Given the description of an element on the screen output the (x, y) to click on. 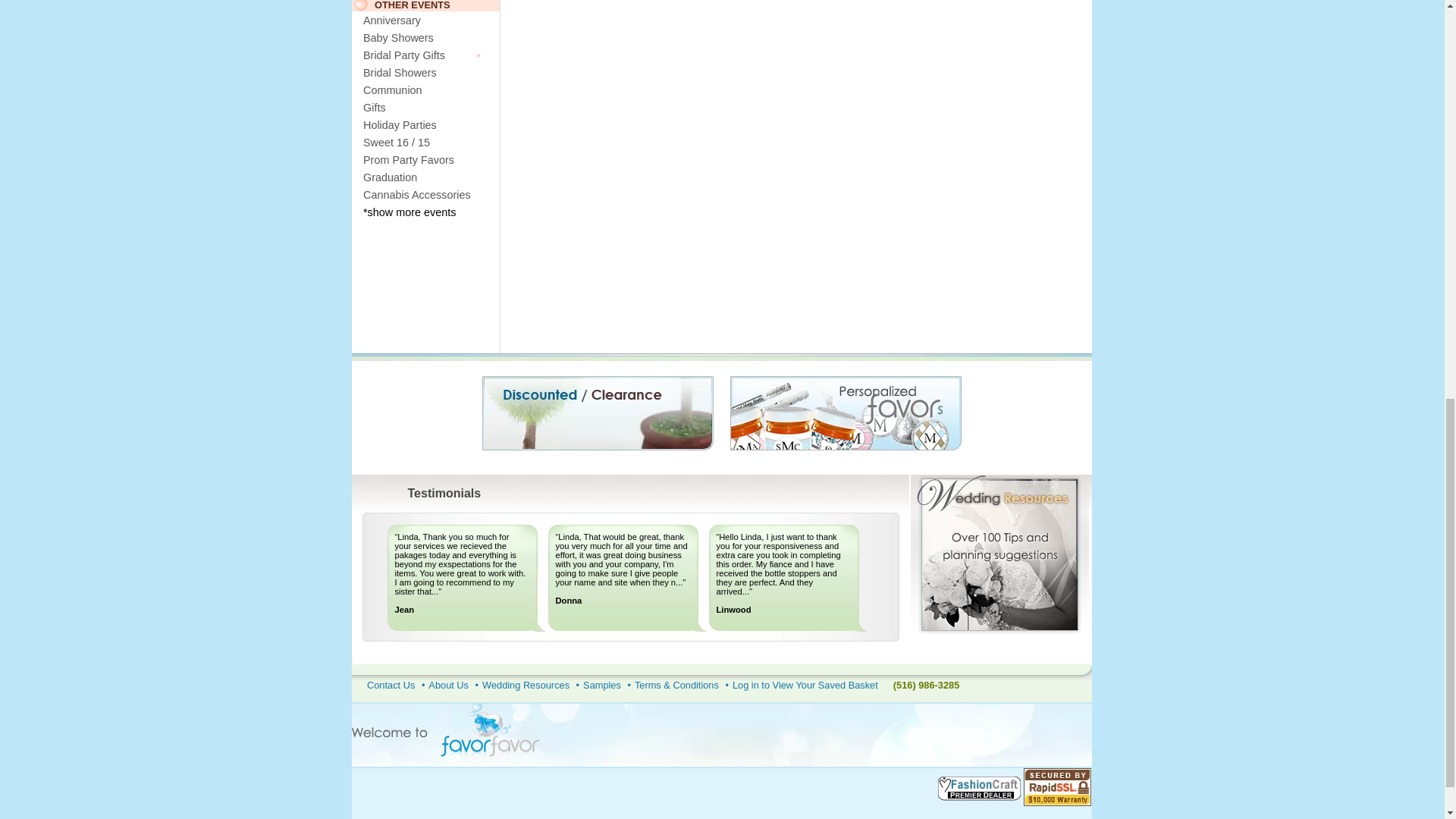
Favor Favor is a FashionCraft Wedding Favors Premier Dealer (979, 788)
